Given the description of an element on the screen output the (x, y) to click on. 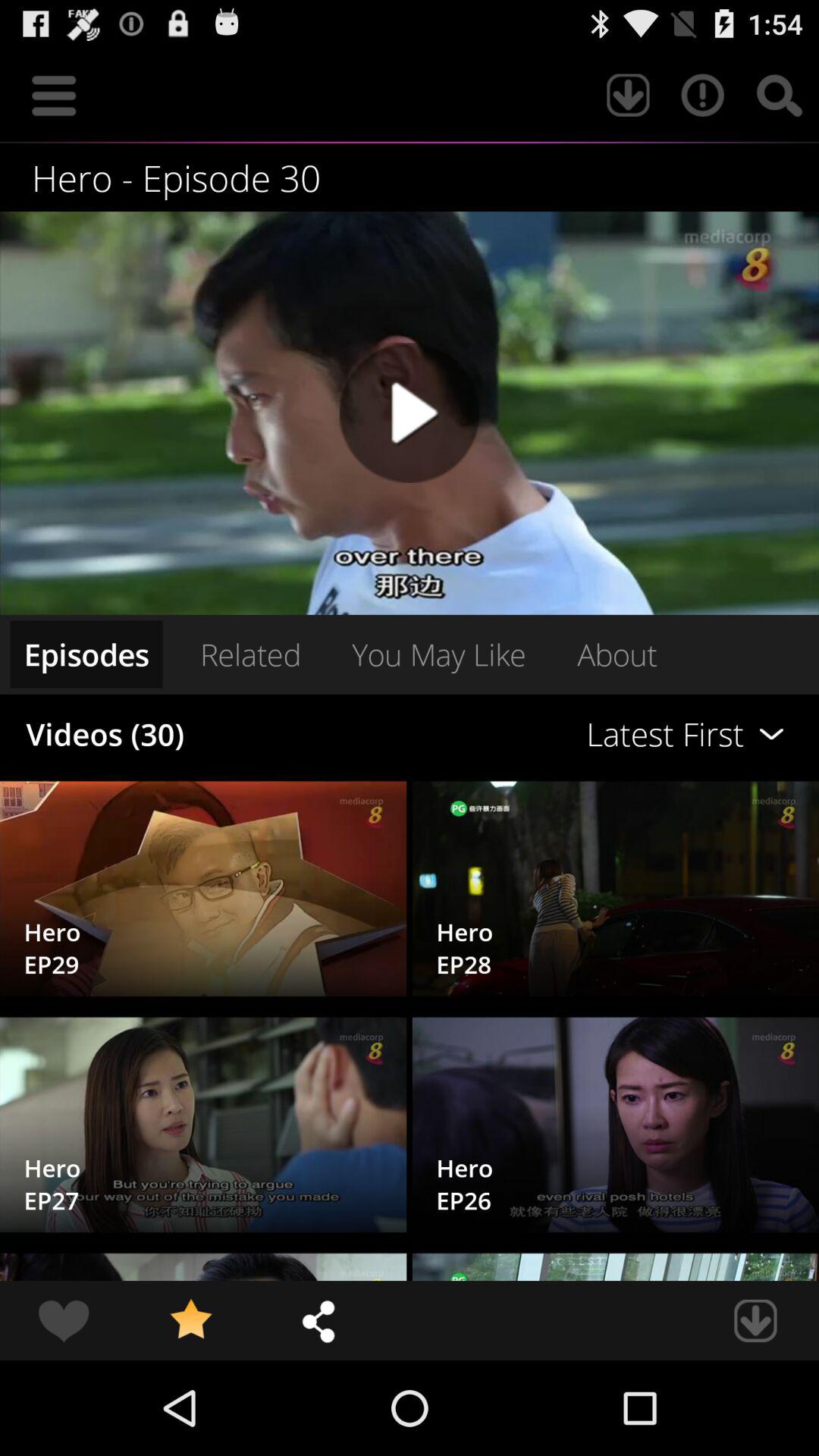
tap icon next to the related item (560, 734)
